Given the description of an element on the screen output the (x, y) to click on. 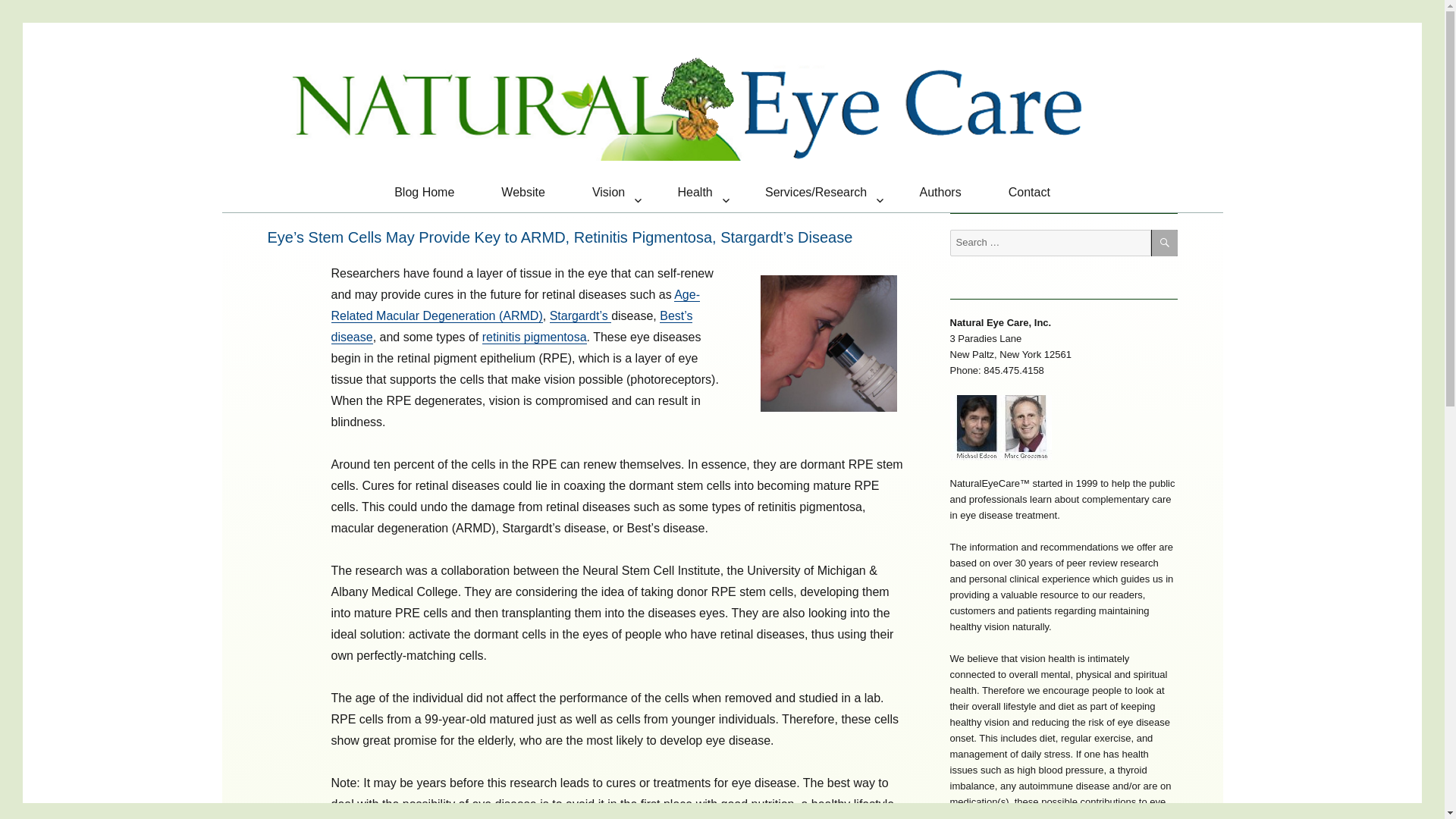
SEARCH (1164, 243)
Website (523, 198)
Contact (1029, 198)
Health (697, 198)
Authors (941, 198)
retinitis pigmentosa (533, 336)
Blog Home (424, 198)
Vision (611, 198)
